Given the description of an element on the screen output the (x, y) to click on. 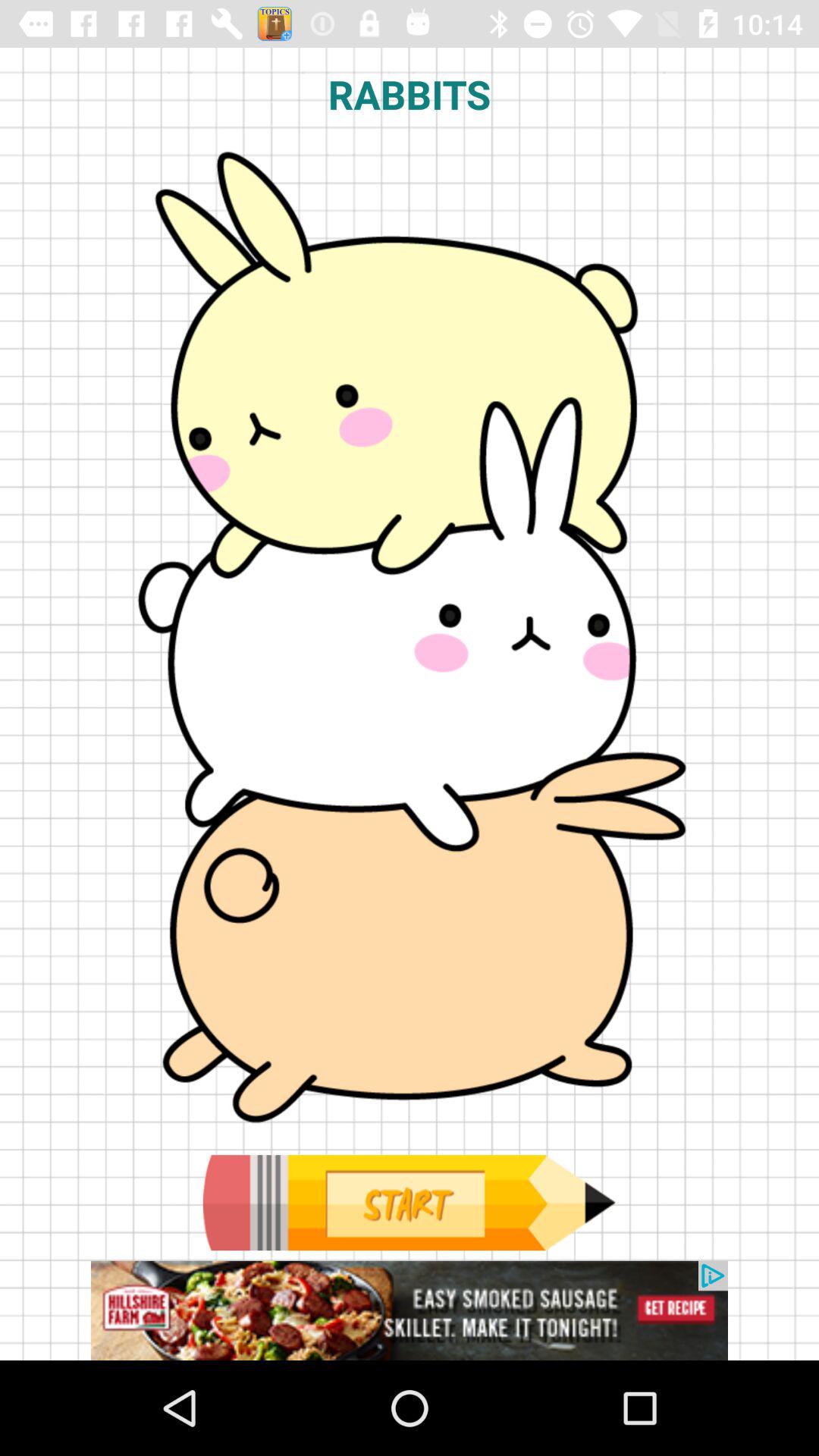
start this (409, 1202)
